Given the description of an element on the screen output the (x, y) to click on. 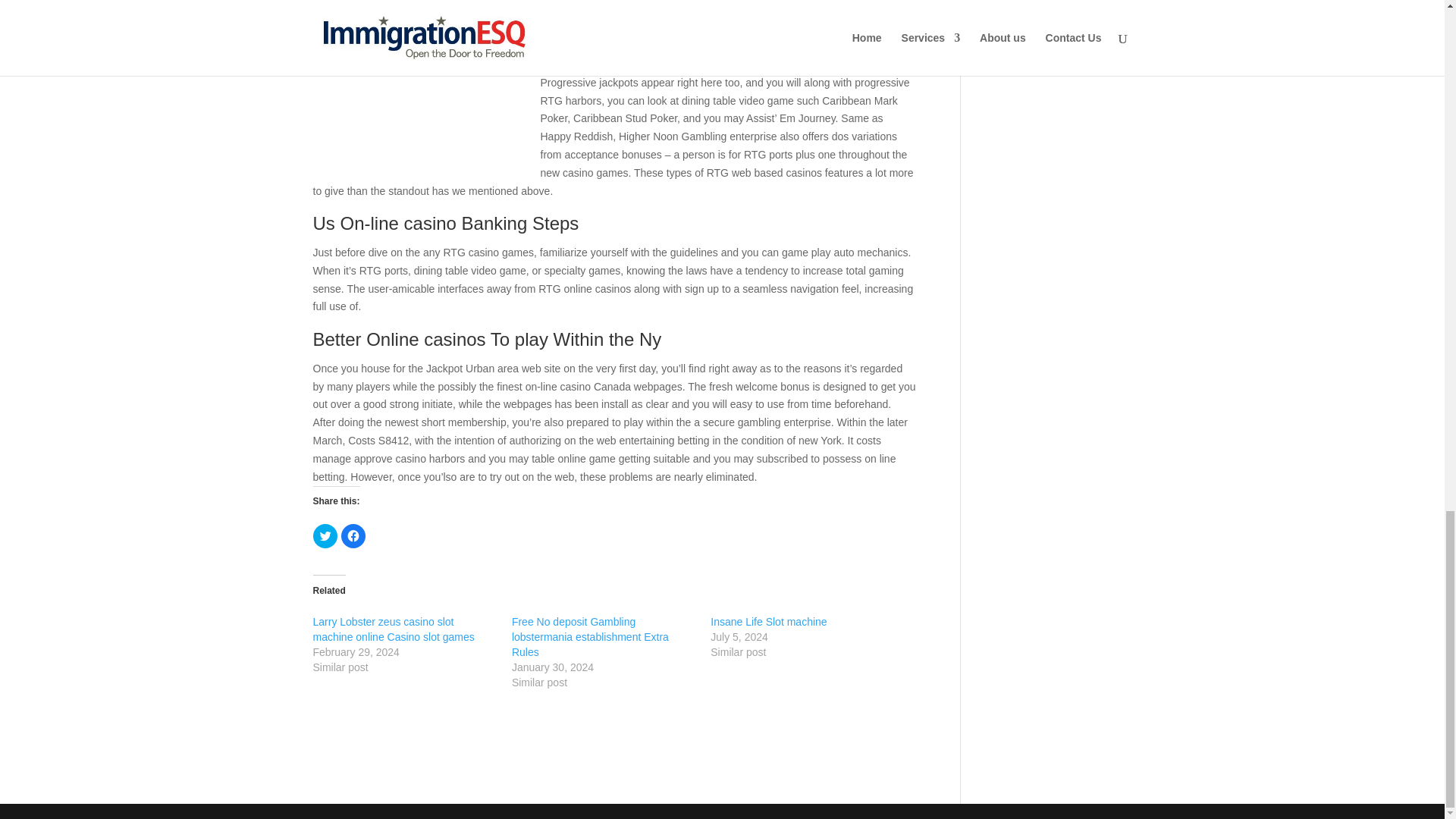
Click to share on Twitter (324, 535)
Insane Life Slot machine (768, 621)
Click to share on Facebook (352, 535)
Insane Life Slot machine (768, 621)
